Given the description of an element on the screen output the (x, y) to click on. 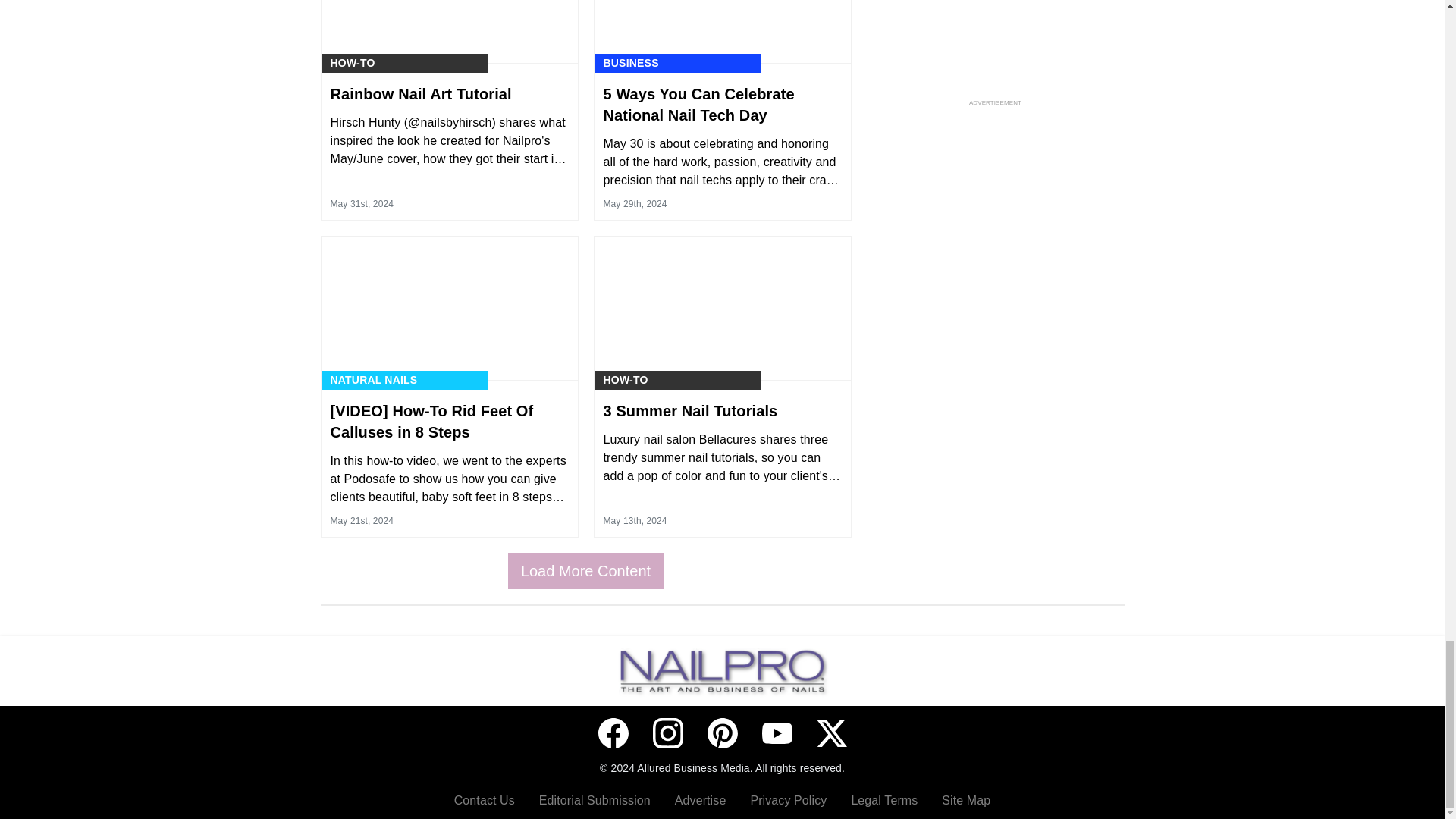
Pinterest icon (721, 733)
YouTube icon (776, 733)
Instagram icon (667, 733)
Facebook icon (611, 733)
